Given the description of an element on the screen output the (x, y) to click on. 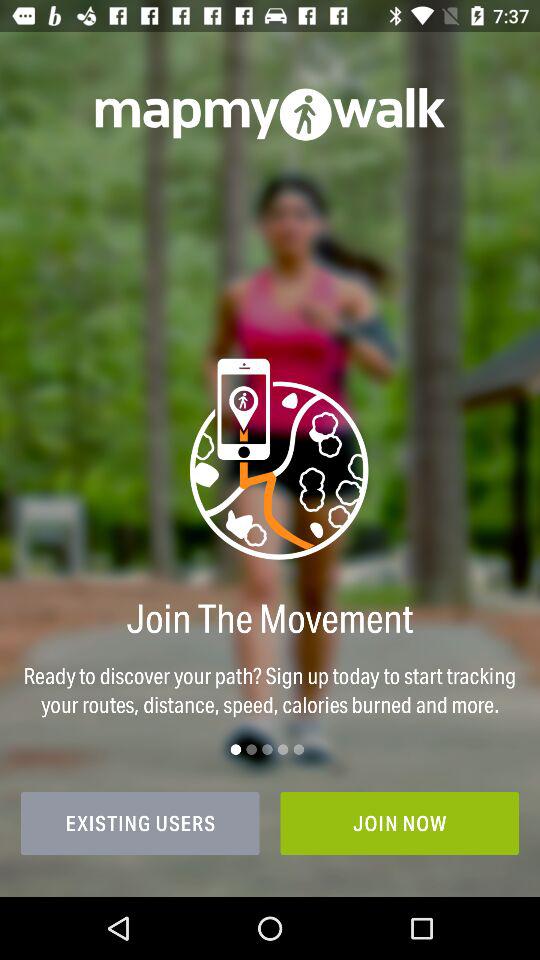
turn on the item to the right of existing users (399, 823)
